Given the description of an element on the screen output the (x, y) to click on. 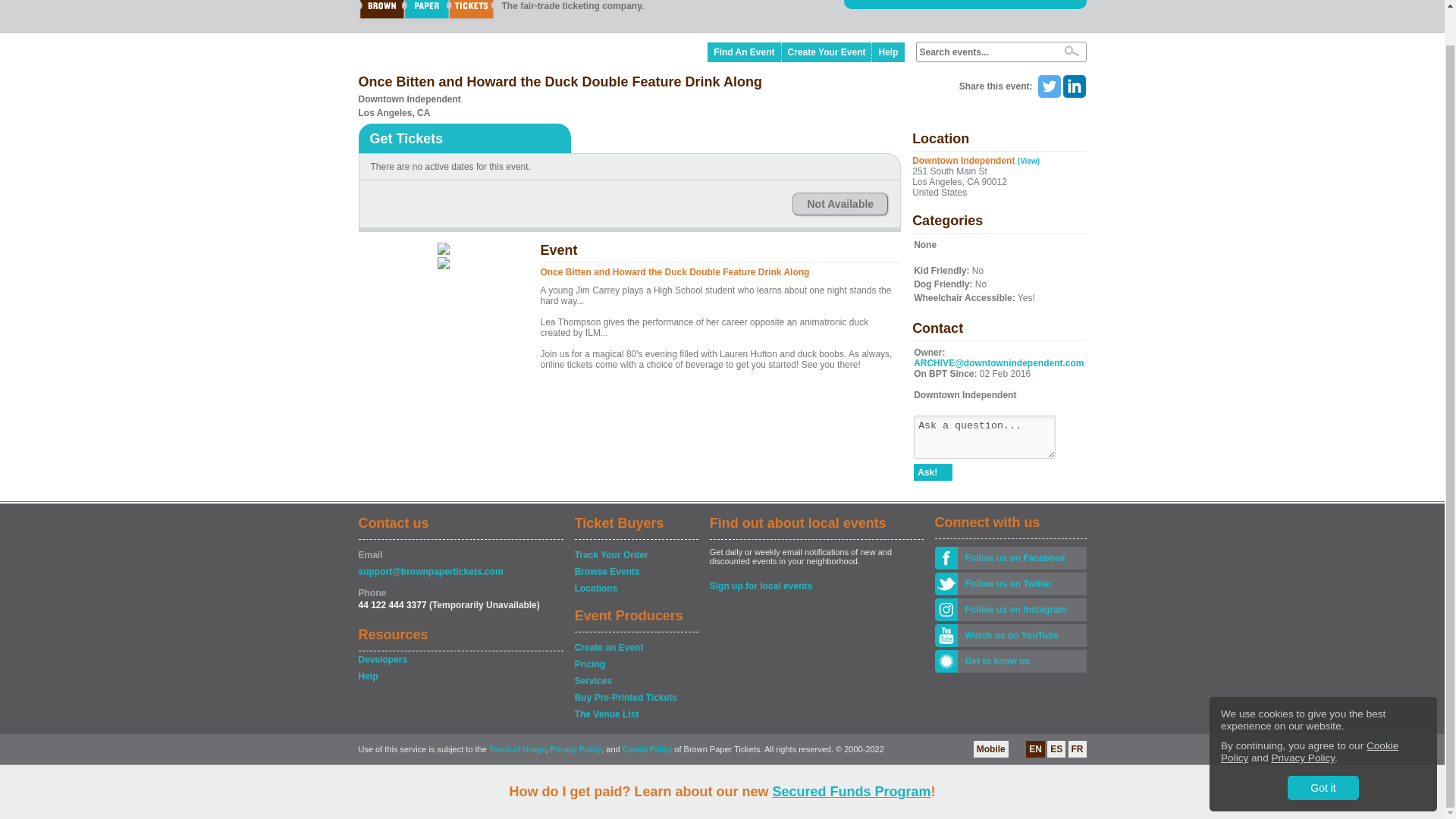
Services (636, 680)
Search Events (1070, 50)
Privacy Policy (1303, 721)
Track Your Order (636, 554)
Follow us on Facebook (1021, 558)
The Venue List (636, 713)
Cookie Policy (1309, 715)
Got it (1322, 751)
Log In (933, 0)
Pricing (636, 663)
